Given the description of an element on the screen output the (x, y) to click on. 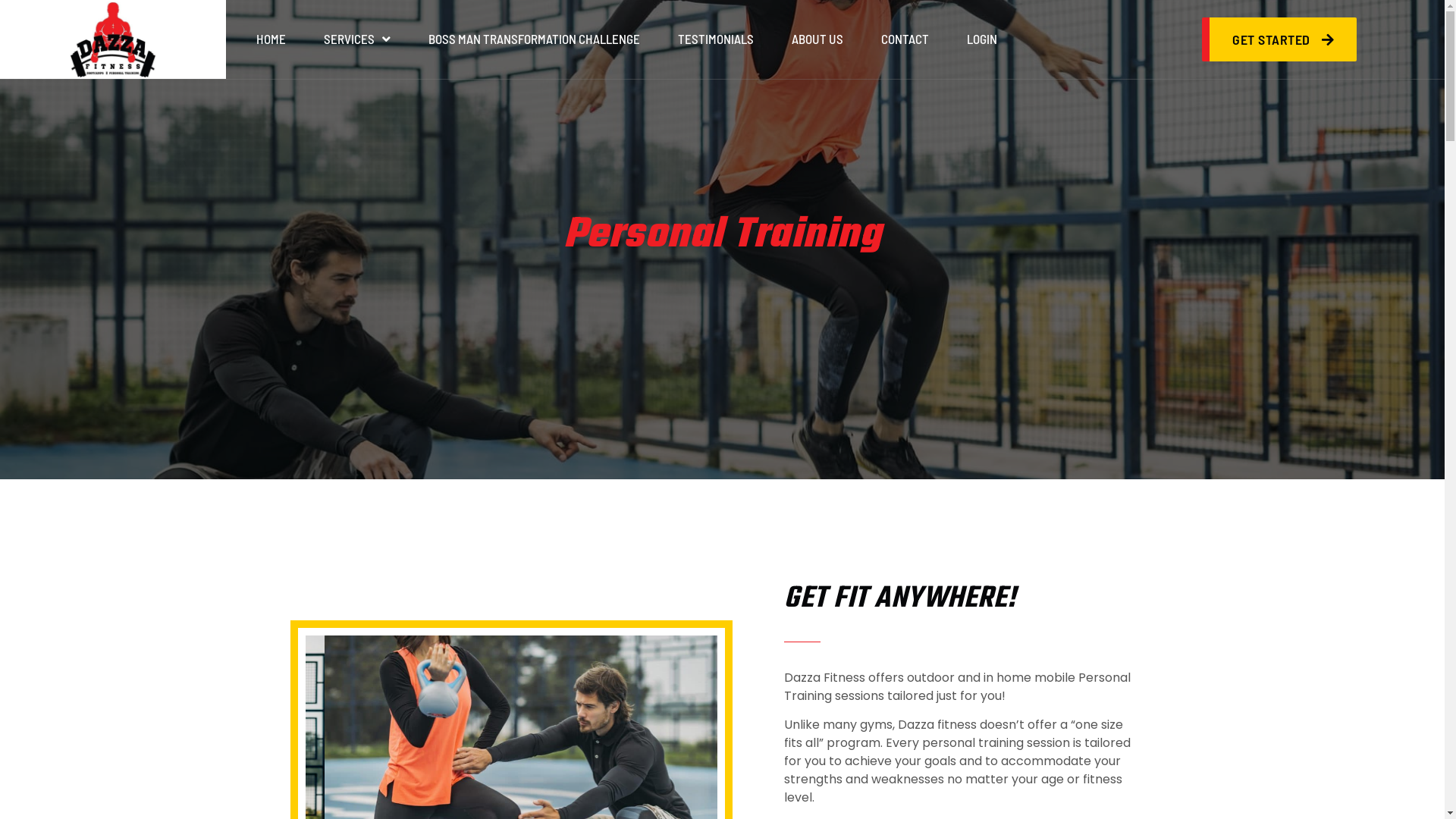
ABOUT US Element type: text (817, 39)
HOME Element type: text (270, 39)
LOGIN Element type: text (981, 39)
GET STARTED Element type: text (1278, 39)
TESTIMONIALS Element type: text (715, 39)
SERVICES Element type: text (356, 39)
BOSS MAN TRANSFORMATION CHALLENGE Element type: text (534, 39)
CONTACT Element type: text (904, 39)
